Given the description of an element on the screen output the (x, y) to click on. 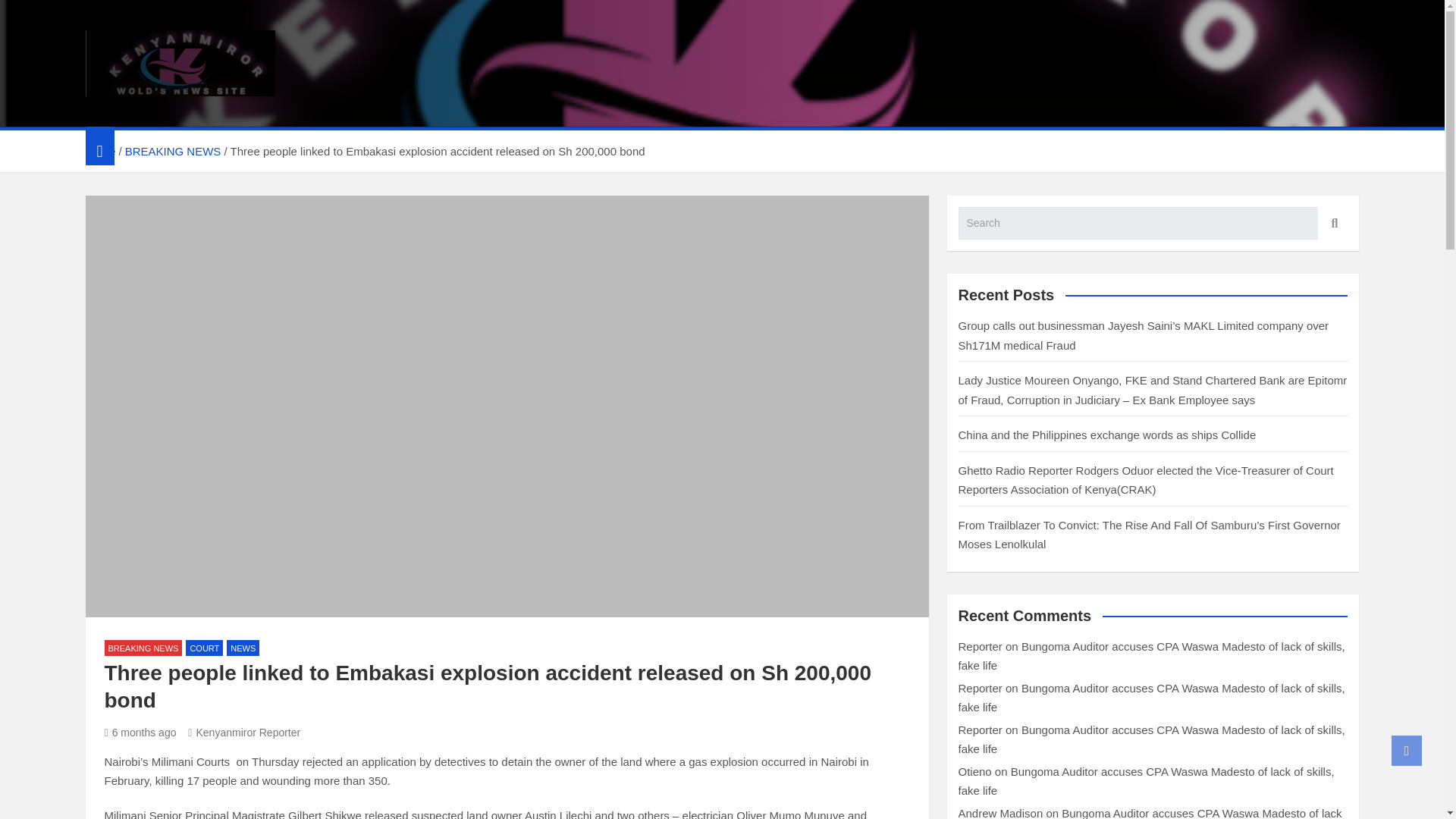
6 months ago (140, 732)
China and the Philippines exchange words as ships Collide (1107, 434)
Reporter (980, 729)
Go to Top (1406, 750)
Reporter (980, 687)
Kenyanmiror KM (205, 115)
BREAKING NEWS (173, 151)
